Given the description of an element on the screen output the (x, y) to click on. 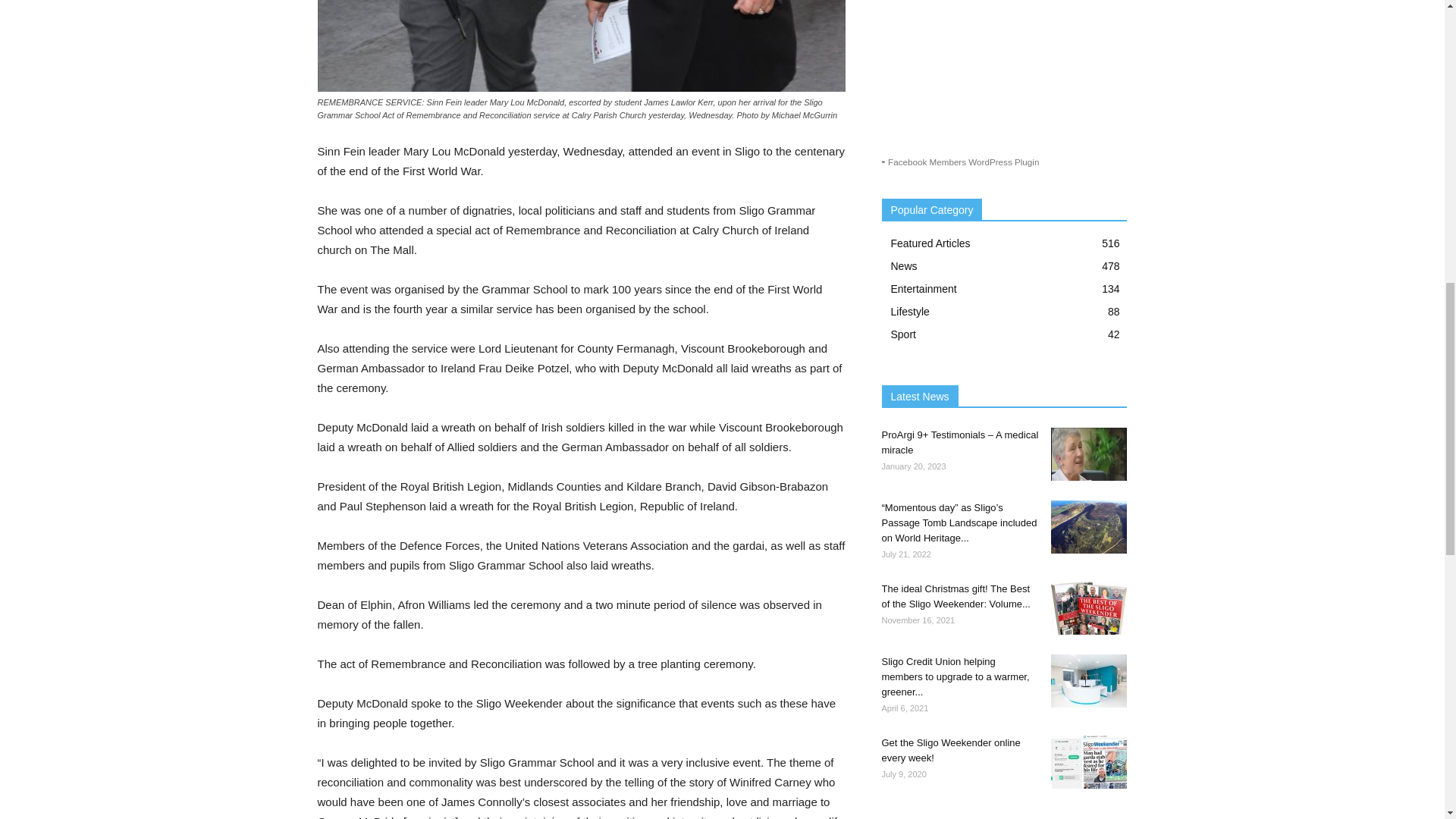
sinn fein grammar (580, 45)
Facebook Members WordPress Plugin by Crunchify (963, 162)
